Given the description of an element on the screen output the (x, y) to click on. 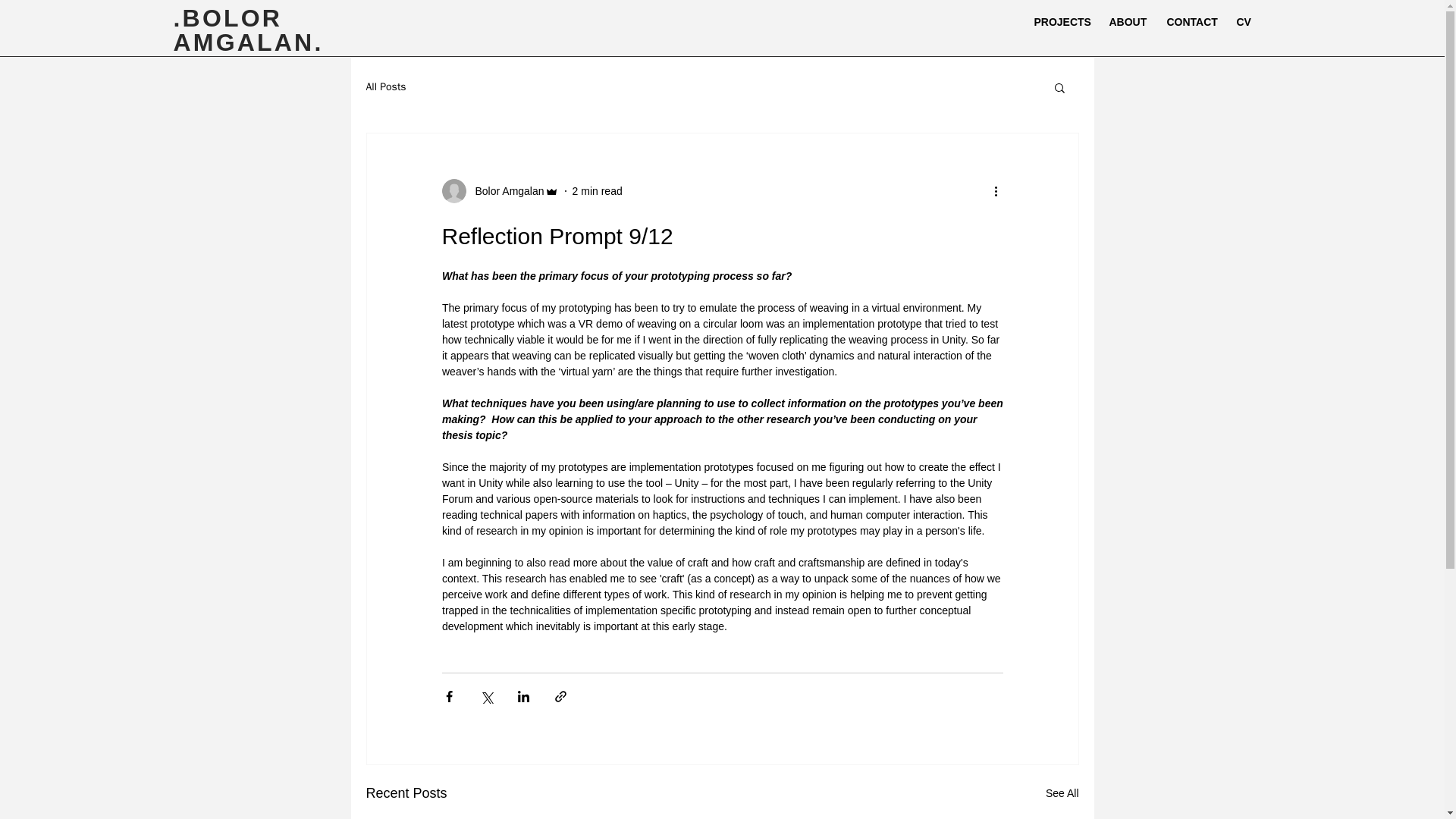
.BOLOR AMGALAN. (248, 30)
CONTACT (1190, 22)
See All (1061, 793)
CV (1243, 22)
Bolor Amgalan (504, 191)
ABOUT (1126, 22)
2 min read (597, 191)
PROJECTS (1059, 22)
All Posts (385, 87)
